Given the description of an element on the screen output the (x, y) to click on. 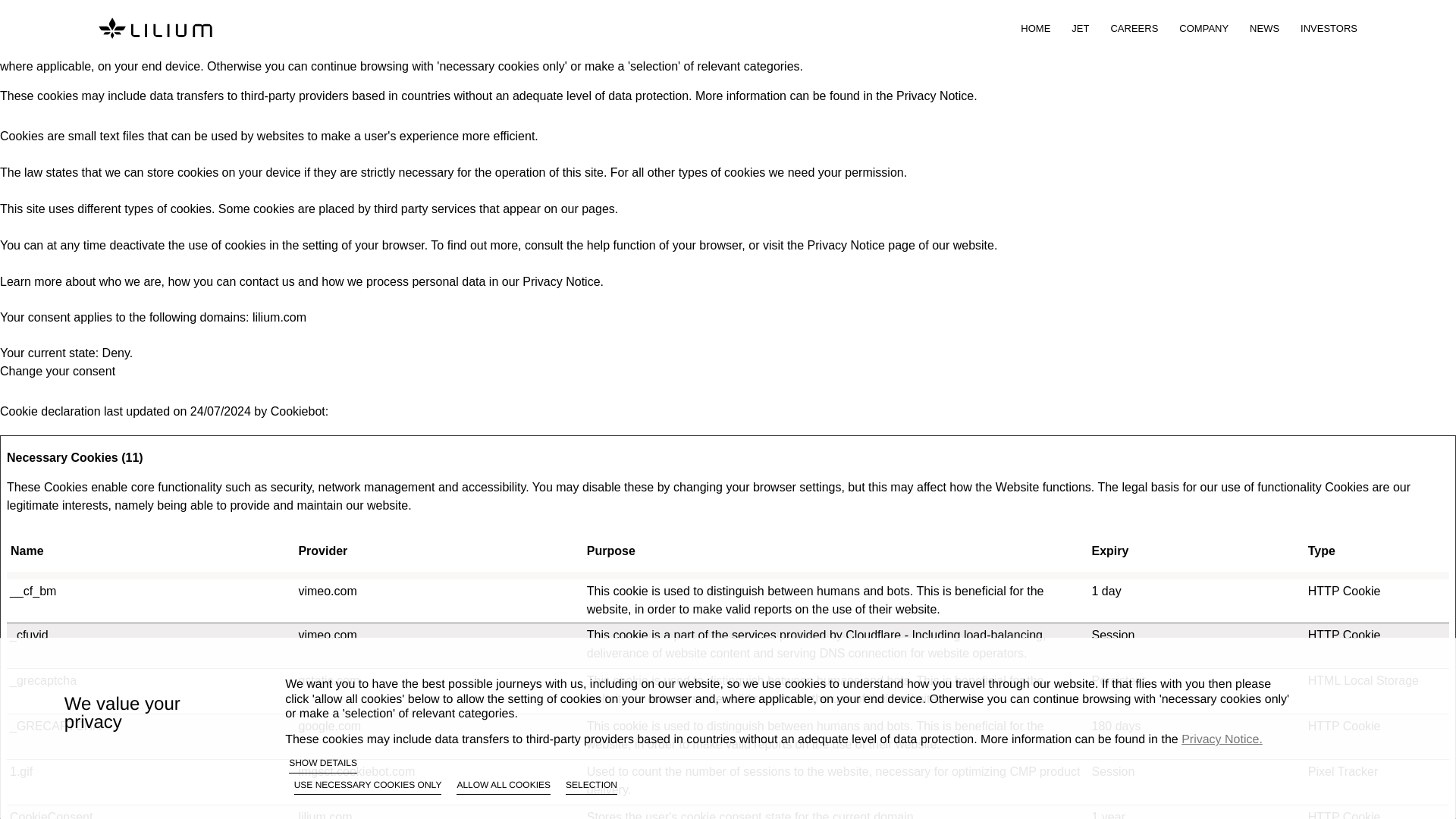
USE NECESSARY COOKIES ONLY (368, 786)
Cookiebot (297, 410)
Privacy Notice. (936, 95)
Privacy Notice (846, 245)
ALLOW ALL COOKIES (503, 786)
SELECTION (591, 786)
Privacy Notice (560, 281)
SHOW DETAILS (322, 764)
Change your consent (57, 370)
Cookiebot (297, 410)
Privacy Notice. (1221, 739)
